Given the description of an element on the screen output the (x, y) to click on. 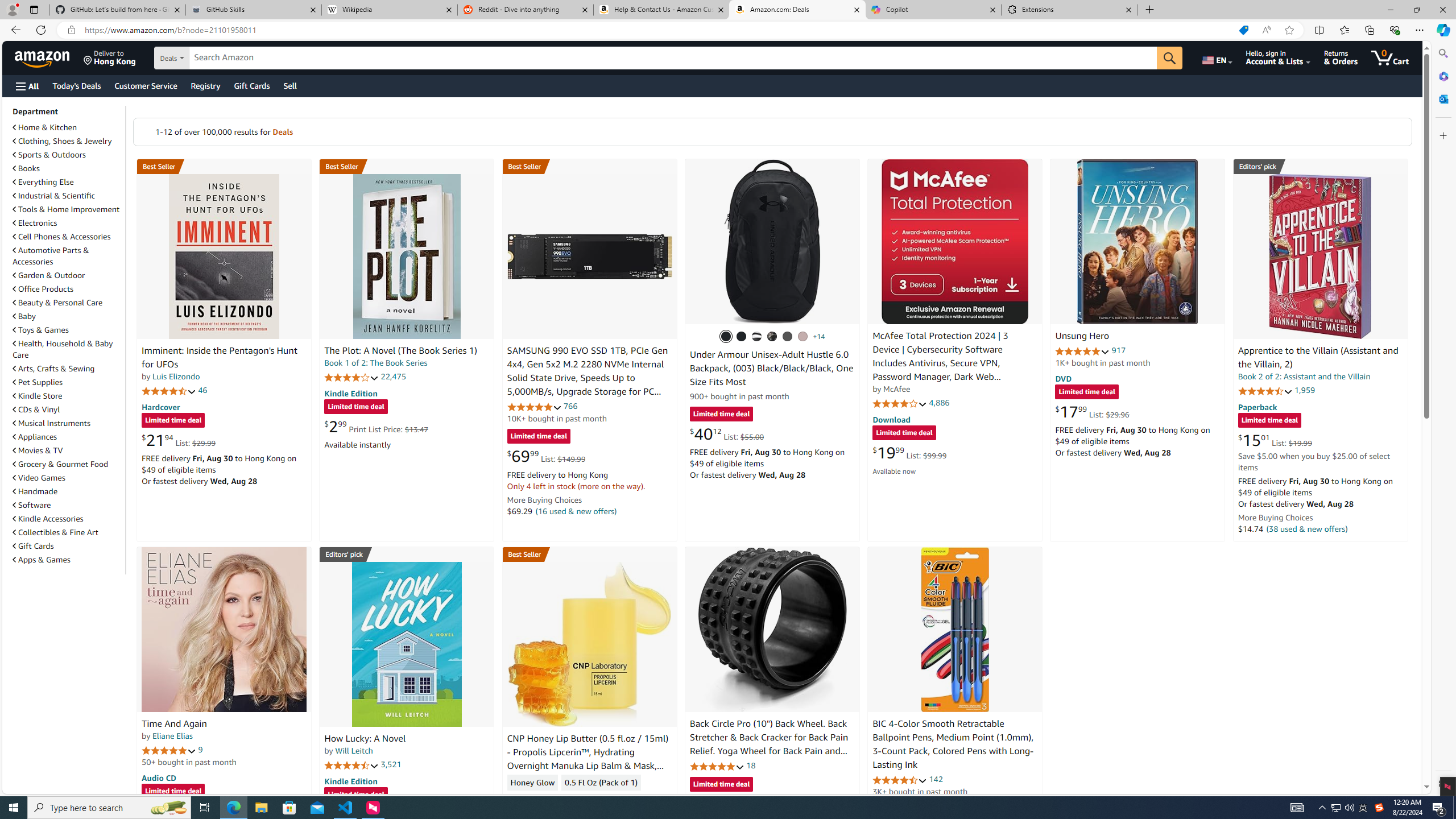
4.1 out of 5 stars (899, 403)
Copilot (933, 9)
Garden & Outdoor (49, 275)
Tools & Home Improvement (67, 208)
Time And Again (224, 628)
Best Seller in Unexplained Mysteries (223, 165)
4.9 out of 5 stars (1082, 351)
Health, Household & Baby Care (67, 348)
Books (26, 167)
4.8 out of 5 stars (716, 766)
(005) Black Full Heather / Black / Metallic Gold (788, 336)
